Given the description of an element on the screen output the (x, y) to click on. 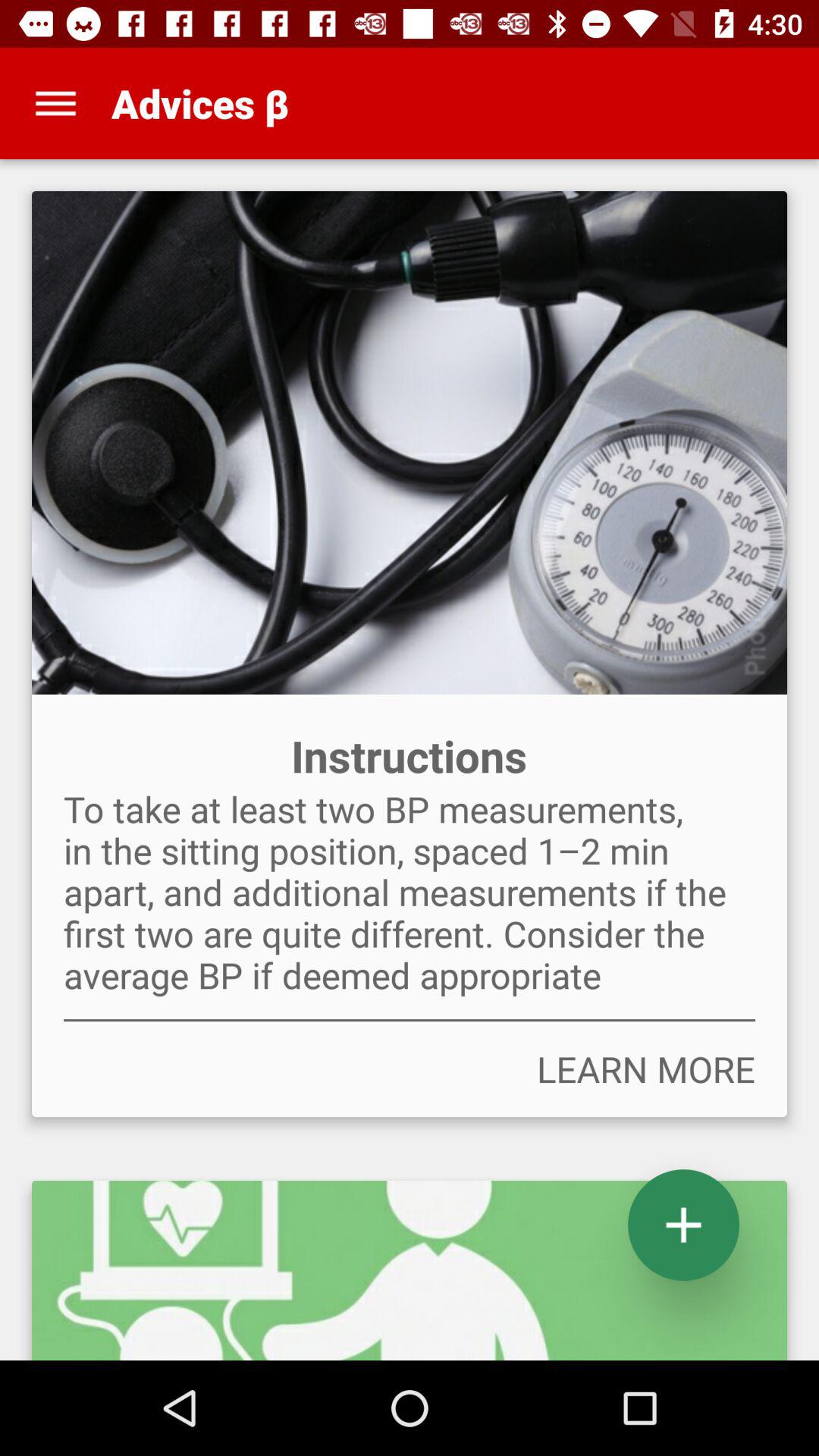
tap the learn more item (409, 1069)
